Given the description of an element on the screen output the (x, y) to click on. 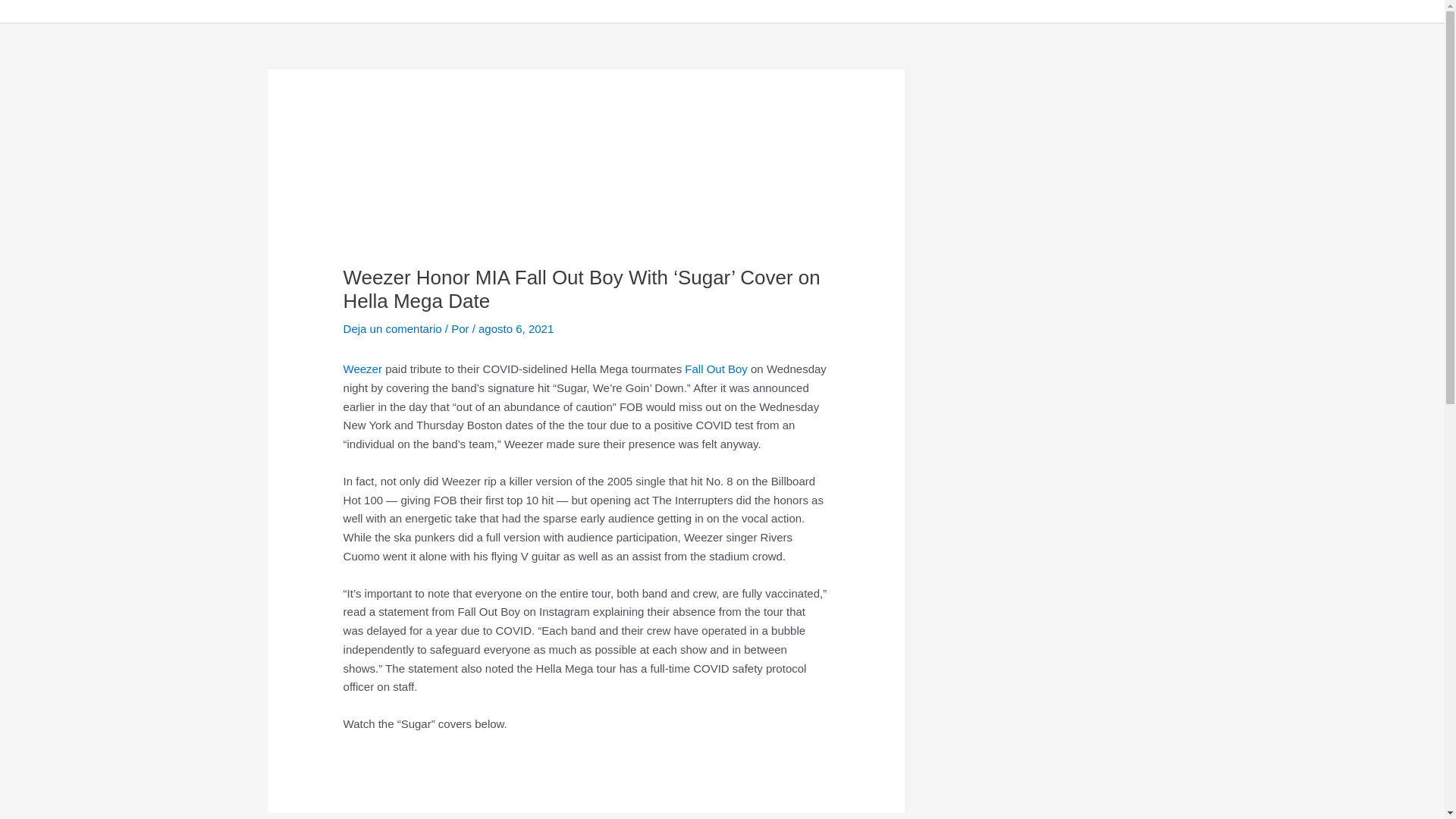
Deja un comentario (392, 328)
Fall Out Boy (716, 368)
Weezer (362, 368)
